Given the description of an element on the screen output the (x, y) to click on. 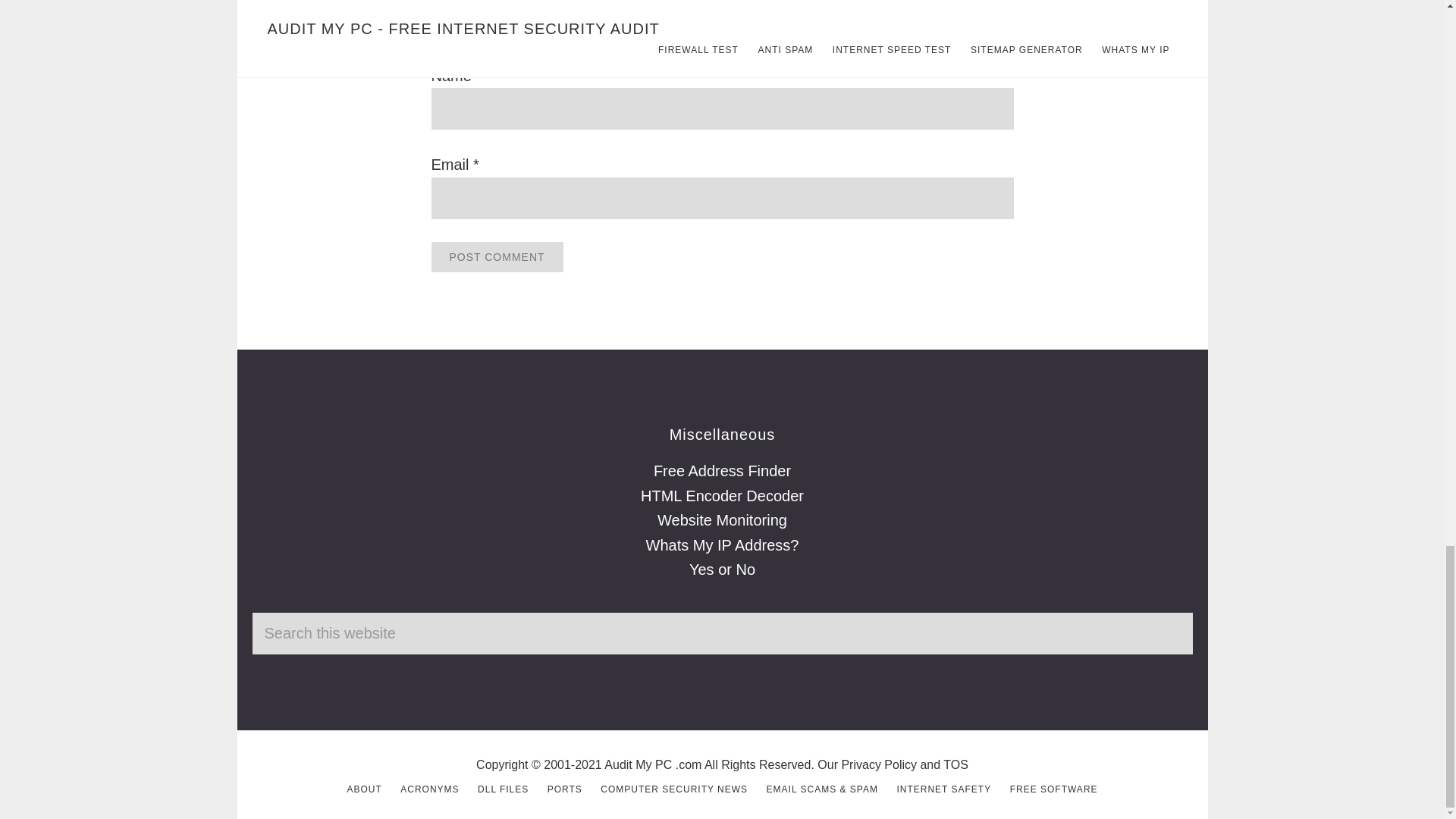
AuditMyPC.com Terms of Service (955, 764)
FREE SOFTWARE (1053, 788)
Whats My IP Address? (722, 545)
Yes or No (721, 569)
Privacy Policy (879, 764)
Post Comment (496, 256)
TOS (955, 764)
Website Monitoring (722, 519)
